Given the description of an element on the screen output the (x, y) to click on. 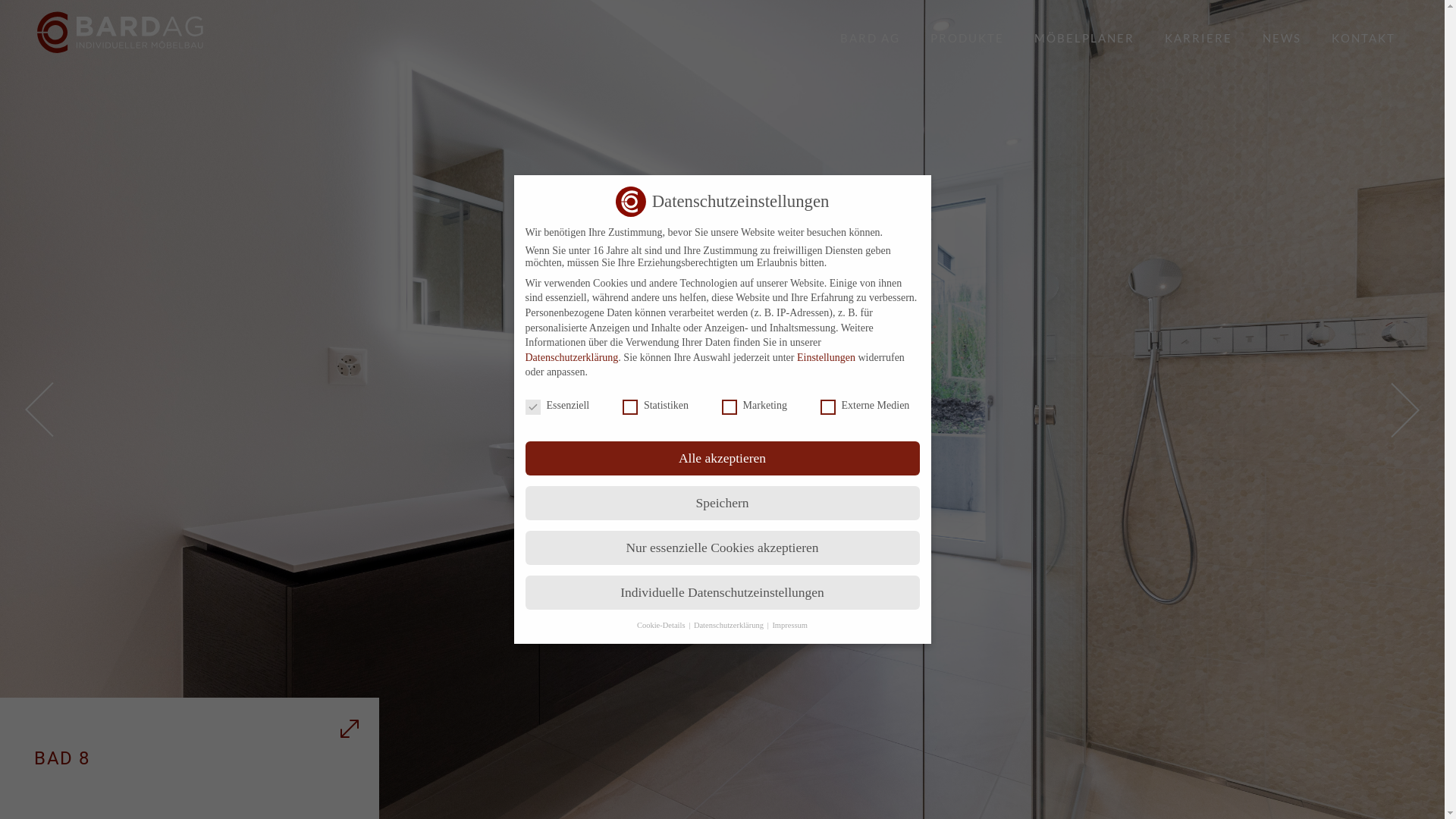
Impressum Element type: text (789, 624)
Alle akzeptieren Element type: text (721, 458)
KARRIERE Element type: text (1198, 37)
NEWS Element type: text (1281, 37)
Nur essenzielle Cookies akzeptieren Element type: text (721, 547)
Speichern Element type: text (721, 503)
Cookie-Details Element type: text (662, 624)
BARD AG Element type: text (870, 37)
Individuelle Datenschutzeinstellungen Element type: text (721, 592)
PRODUKTE Element type: text (967, 37)
KONTAKT Element type: text (1363, 37)
Einstellungen Element type: text (826, 357)
